Given the description of an element on the screen output the (x, y) to click on. 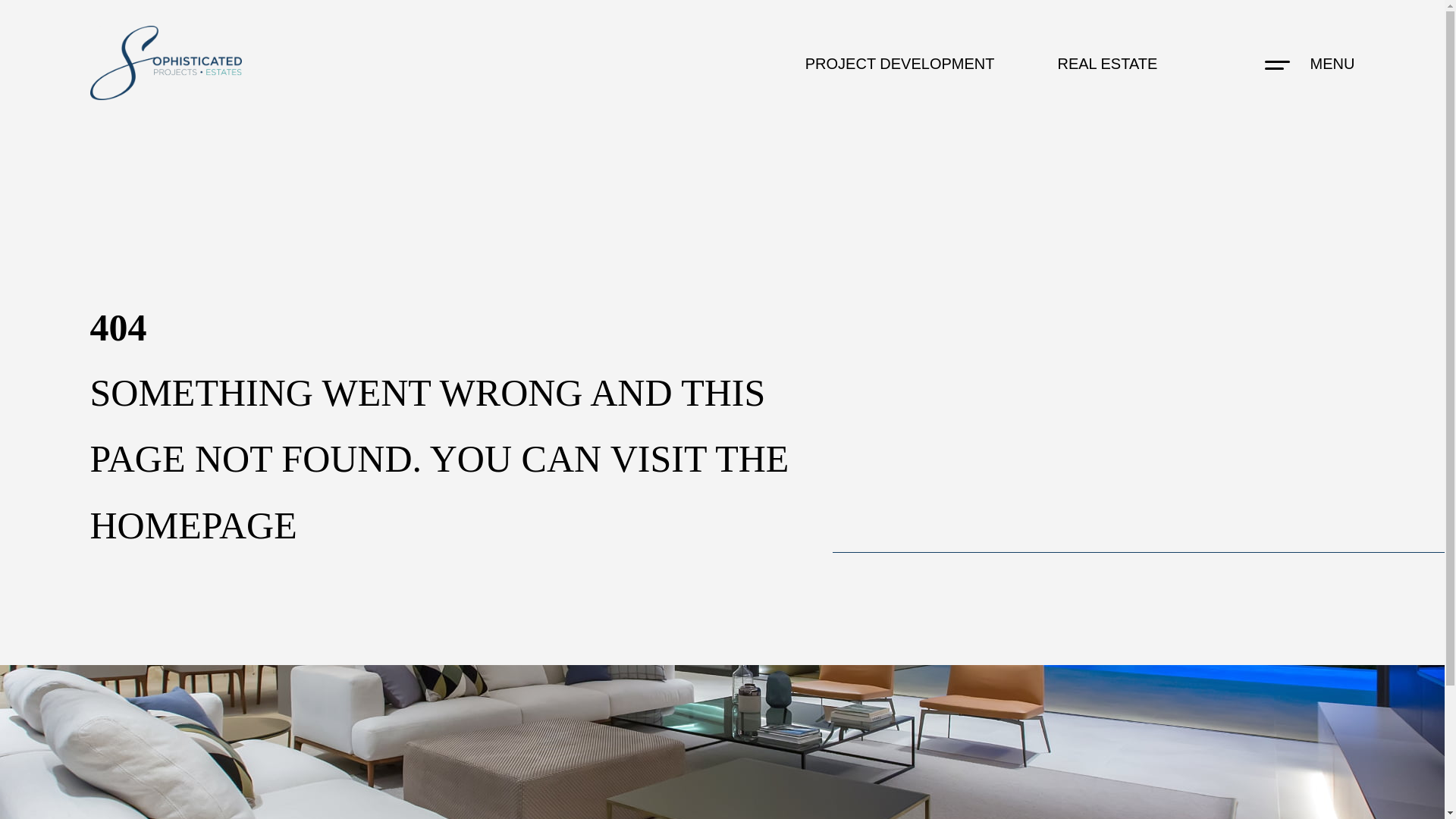
PROJECT DEVELOPMENT (899, 63)
SEARCH (721, 316)
REAL ESTATE (1107, 63)
MENU (1332, 63)
